Given the description of an element on the screen output the (x, y) to click on. 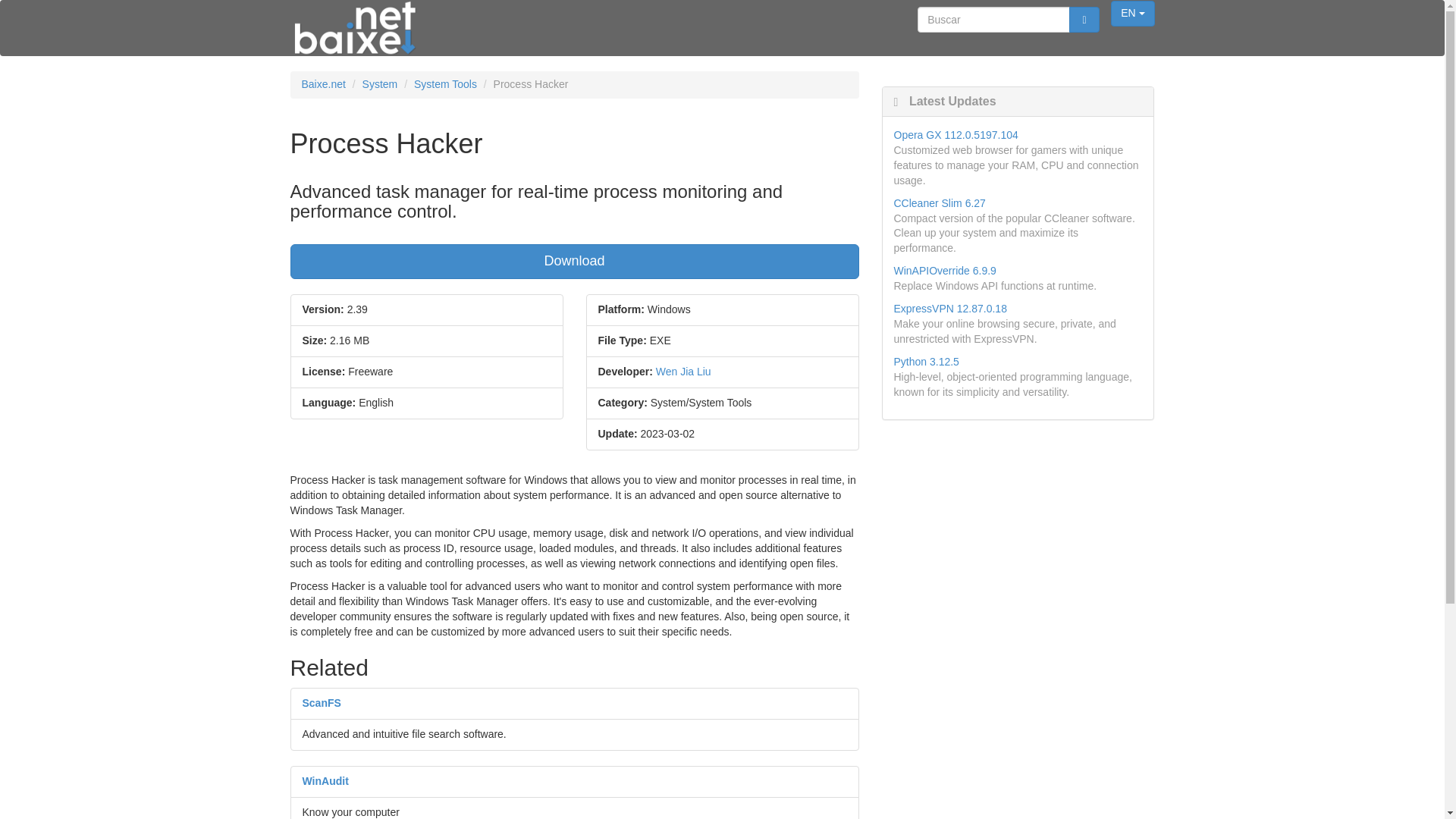
Python 3.12.5 (925, 361)
Download Opera GX (955, 134)
Download CCleaner Slim (939, 203)
Download (574, 261)
Download WinAPIOverride (944, 270)
System Tools (445, 83)
ScanFS (320, 702)
Baixe.net (323, 83)
ExpressVPN 12.87.0.18 (949, 308)
CCleaner Slim 6.27 (939, 203)
